Given the description of an element on the screen output the (x, y) to click on. 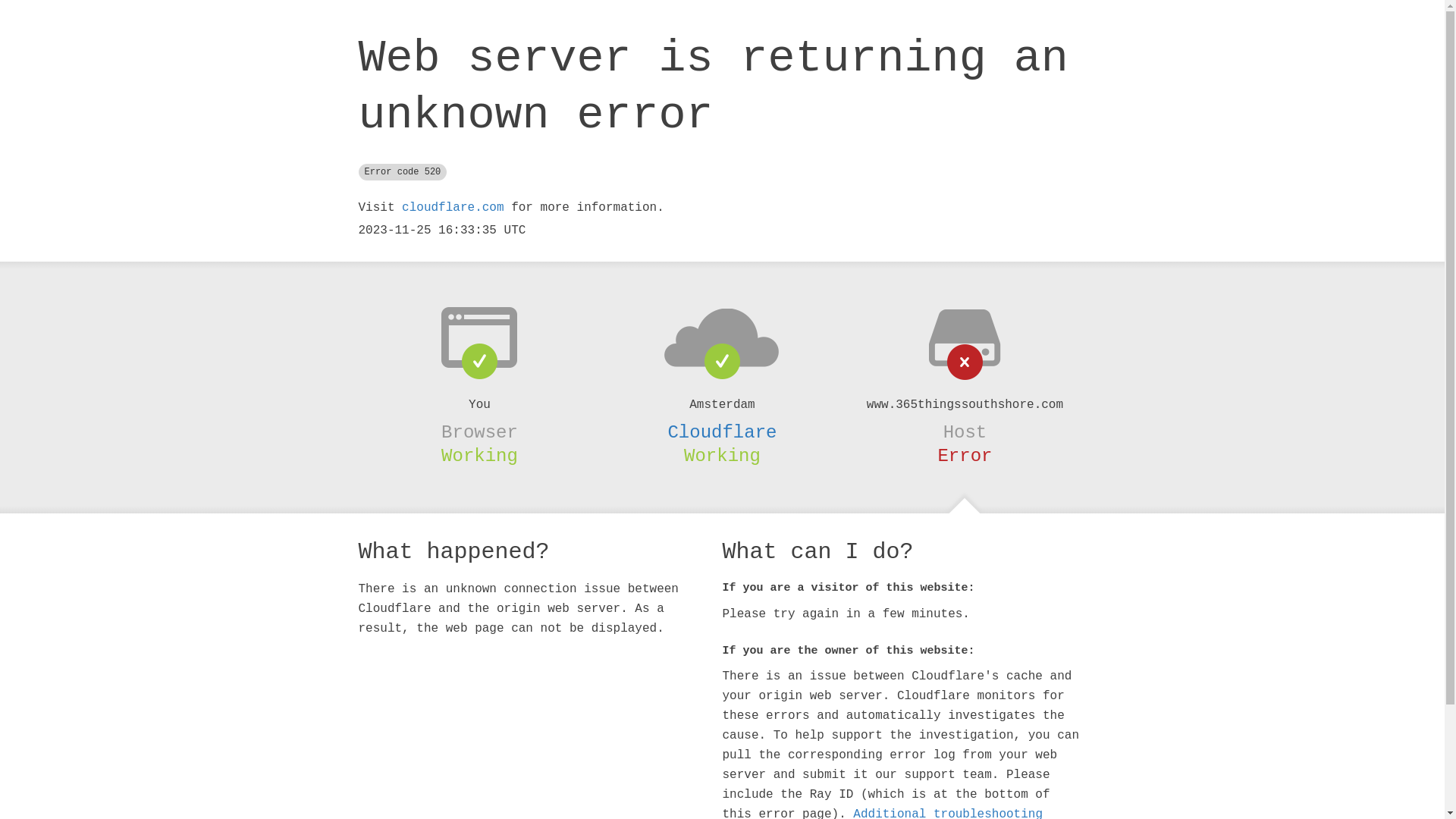
cloudflare.com Element type: text (452, 207)
Cloudflare Element type: text (721, 432)
